Given the description of an element on the screen output the (x, y) to click on. 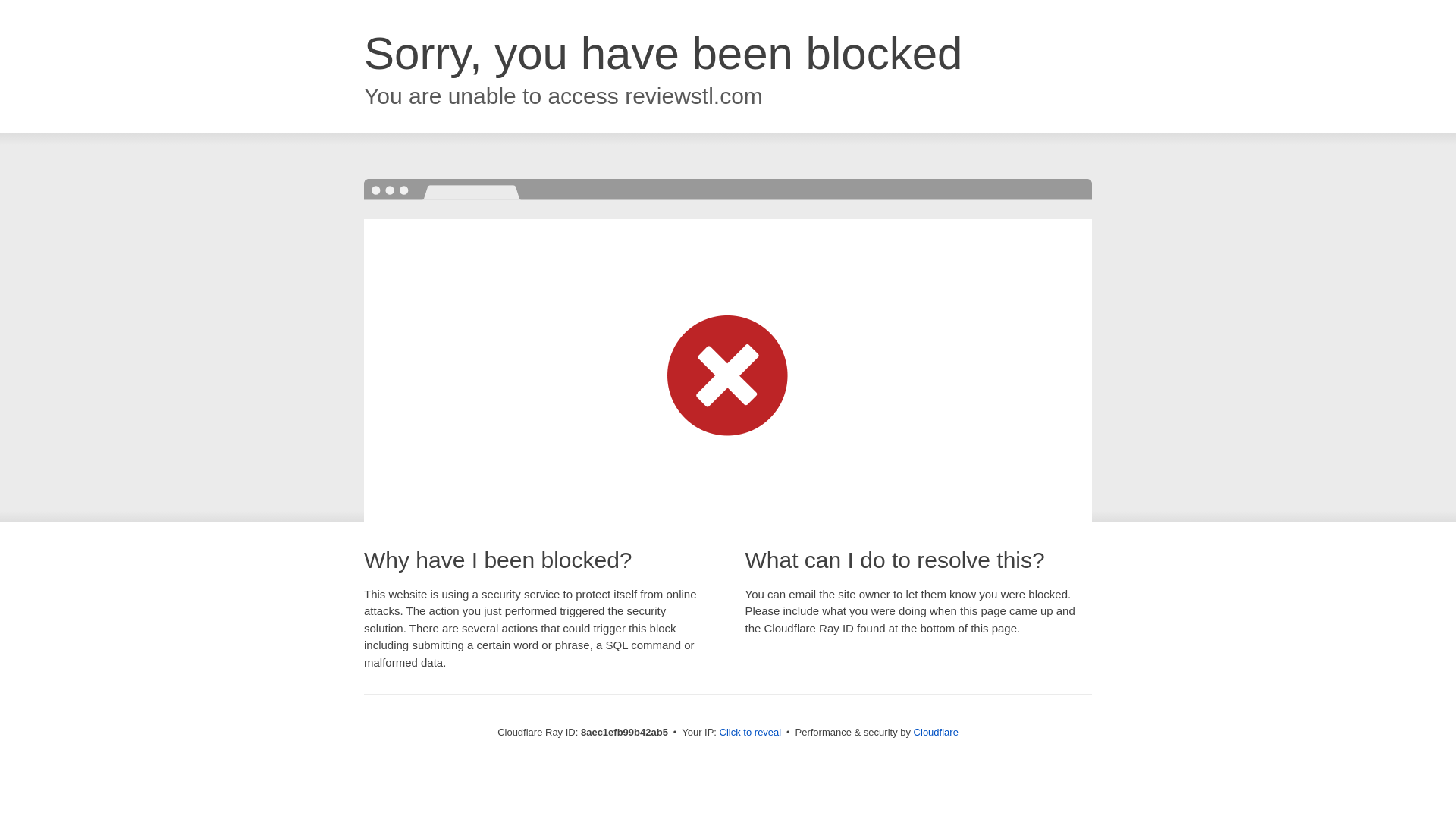
Cloudflare (936, 731)
Click to reveal (750, 732)
